Given the description of an element on the screen output the (x, y) to click on. 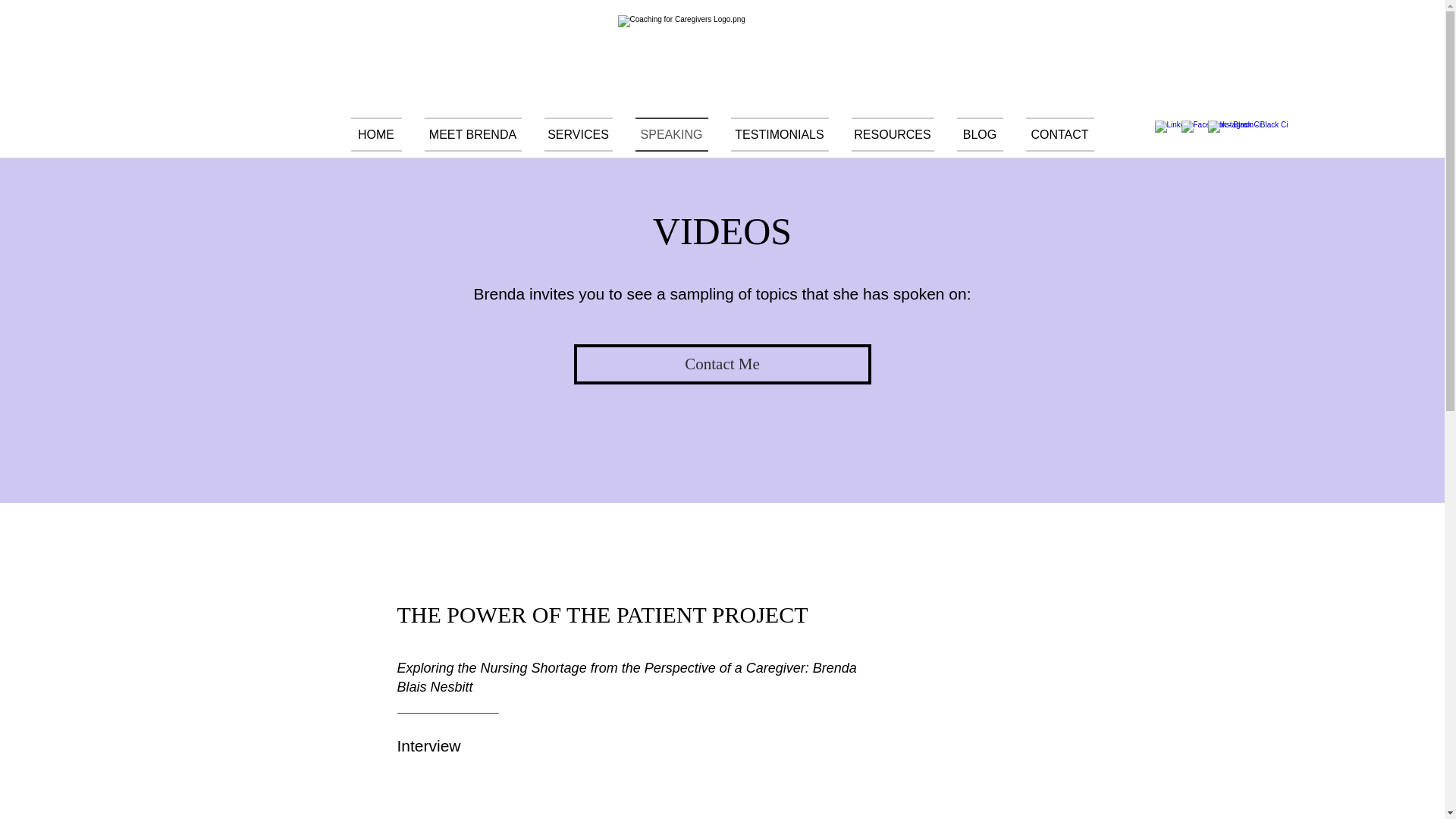
MEET BRENDA (472, 134)
CONTACT (1054, 134)
HOME (381, 134)
SERVICES (577, 134)
SPEAKING (671, 134)
RESOURCES (892, 134)
TESTIMONIALS (779, 134)
Contact Me (721, 363)
BLOG (978, 134)
